Given the description of an element on the screen output the (x, y) to click on. 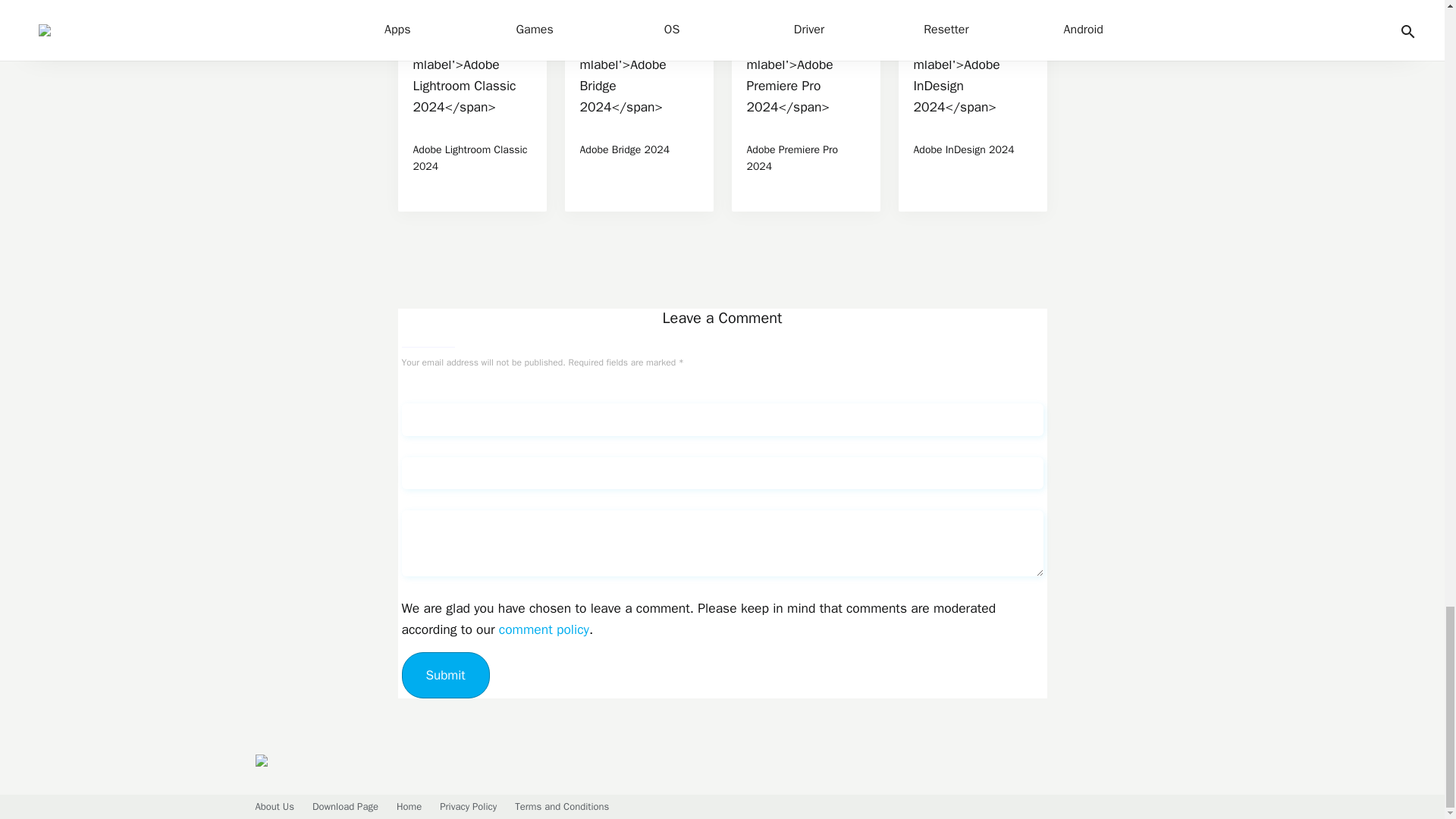
Submit (445, 674)
